Given the description of an element on the screen output the (x, y) to click on. 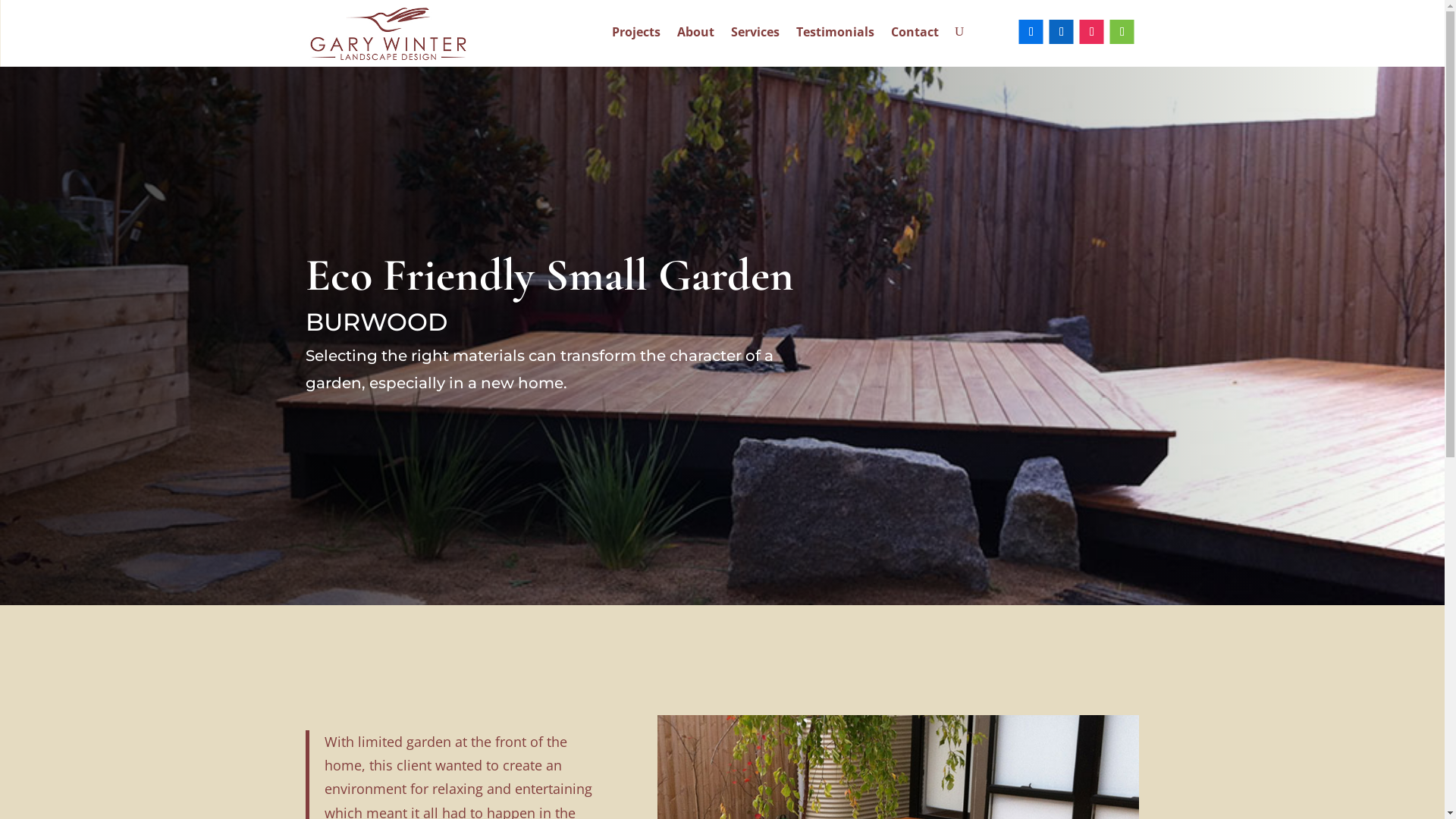
GW-logo-1 Element type: hover (388, 34)
Follow on Facebook Element type: hover (1031, 31)
About Element type: text (695, 34)
Contact Element type: text (914, 34)
Testimonials Element type: text (835, 34)
Services Element type: text (755, 34)
Projects Element type: text (635, 34)
Follow on Houzz Element type: hover (1122, 31)
Follow on LinkedIn Element type: hover (1061, 31)
Follow on Instagram Element type: hover (1091, 31)
